Given the description of an element on the screen output the (x, y) to click on. 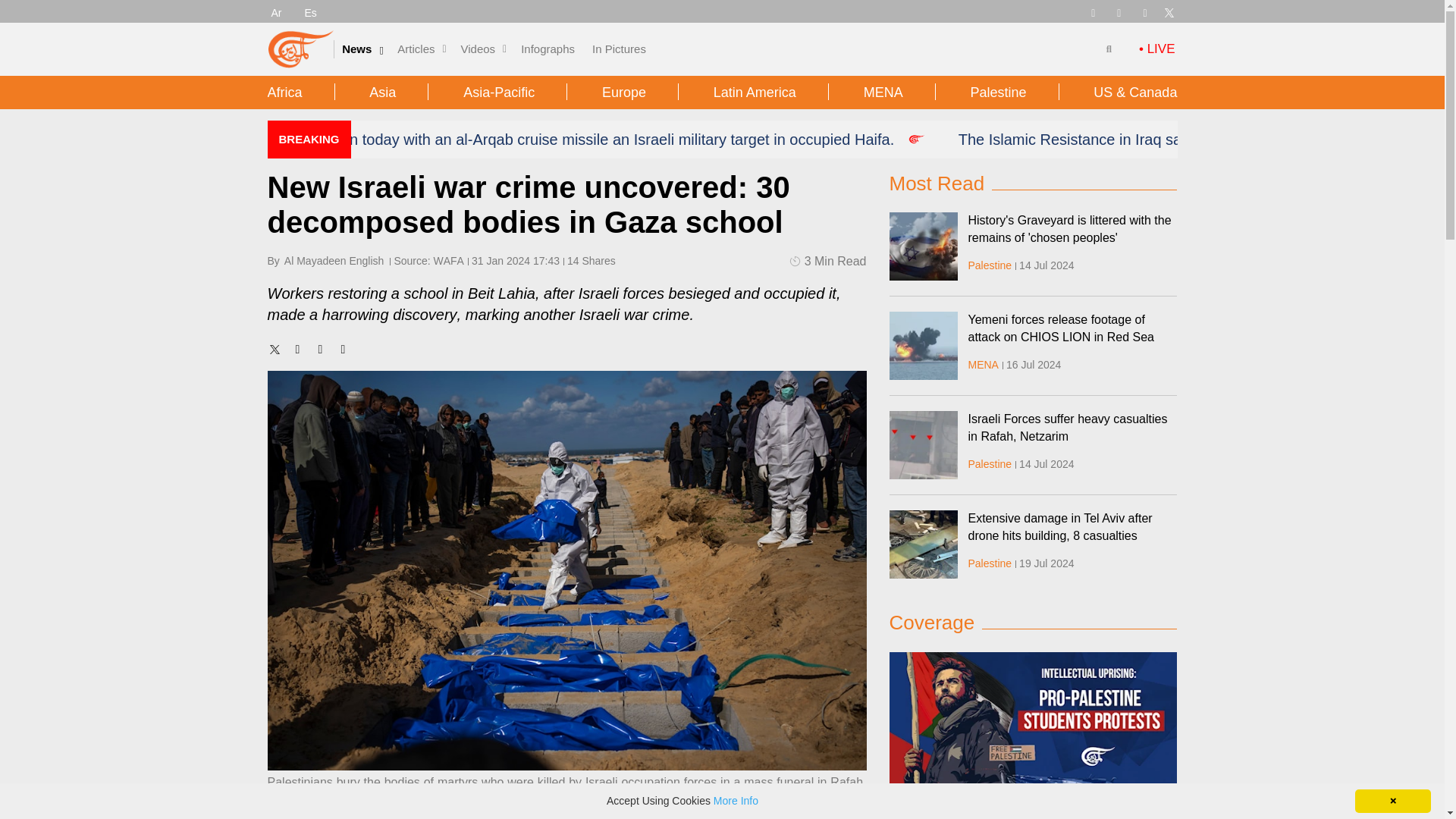
News (356, 48)
Instagram (1144, 11)
Facebook (1118, 11)
Palestine (989, 265)
Videos (478, 48)
MENA (982, 364)
Infographs (548, 48)
IOF suffers heavy casualties in Rafah, Netzarim (922, 445)
Designed by Hady Dbouq for Al Mayadeen English (922, 246)
Palestine (989, 463)
Intellectual Uprising: Pro-Palestine students protests (1032, 735)
In Pictures (619, 48)
Articles (415, 48)
Es (310, 12)
